Given the description of an element on the screen output the (x, y) to click on. 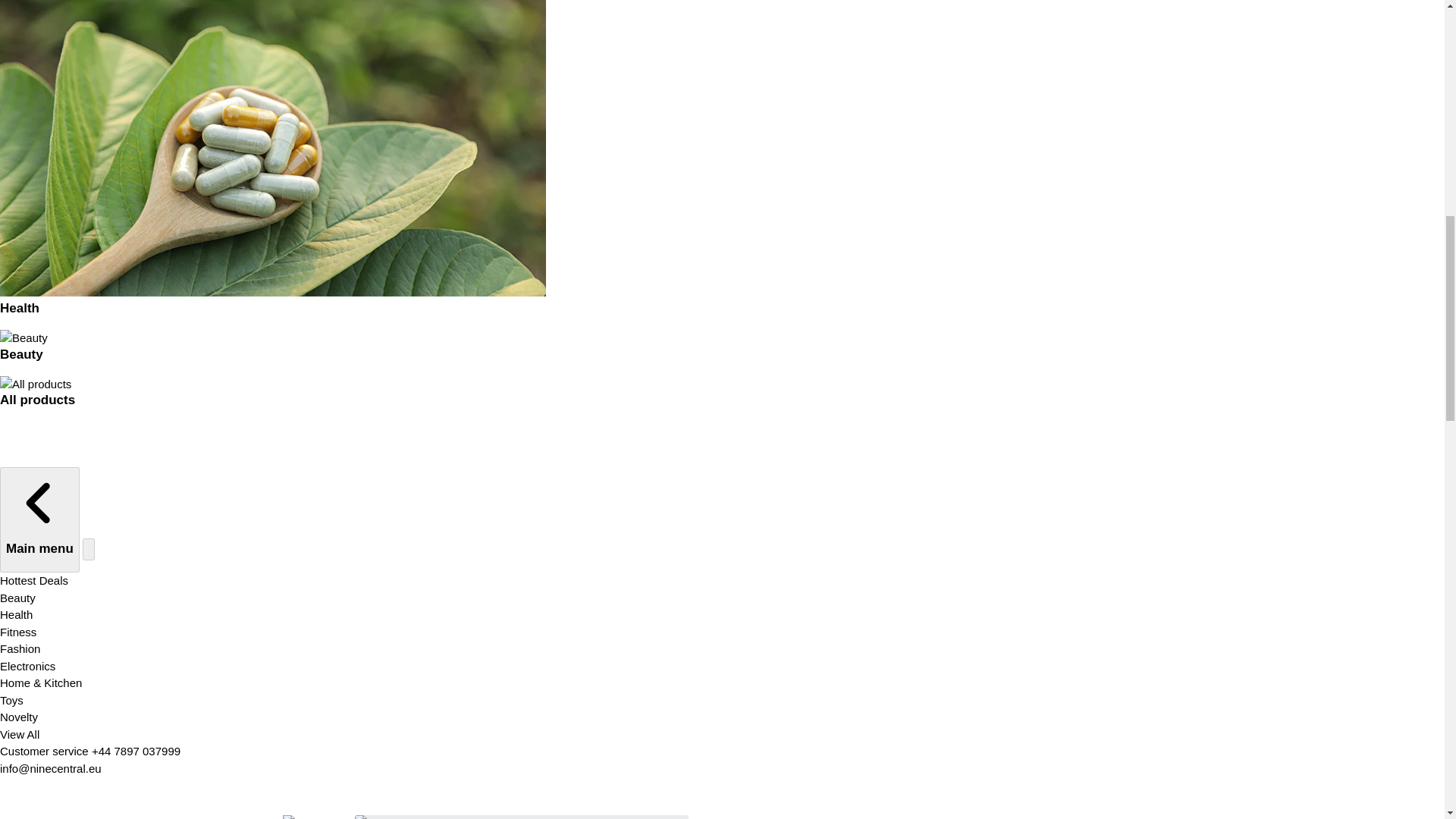
Health (16, 614)
Fashion (20, 648)
Hottest Deals (34, 580)
Fitness (18, 631)
Electronics (27, 666)
Beauty (17, 597)
